Given the description of an element on the screen output the (x, y) to click on. 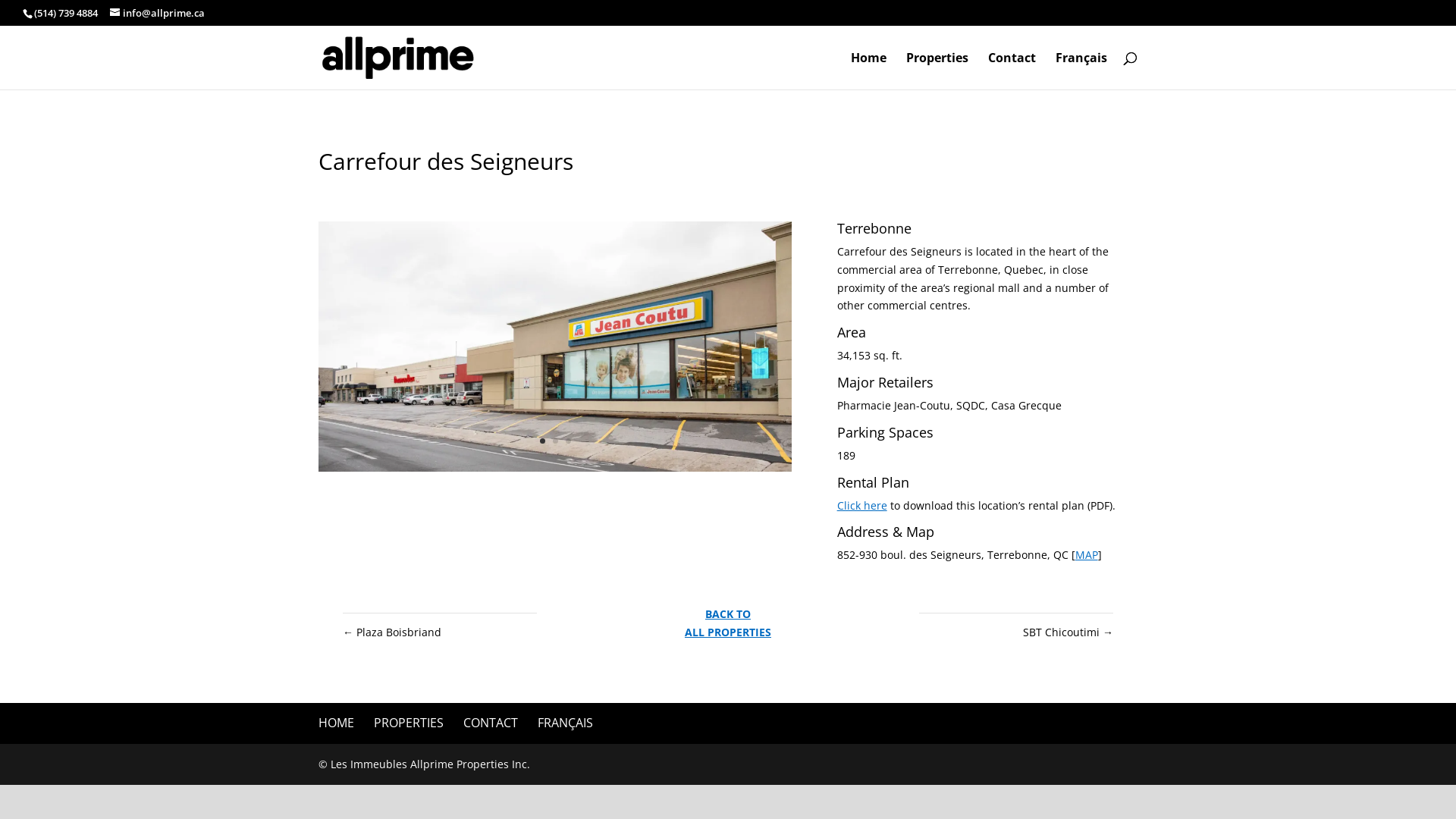
Home Element type: text (868, 69)
1 Element type: text (542, 440)
Carrefour des Seigneurs Element type: hover (554, 471)
HOME Element type: text (336, 722)
CONTACT Element type: text (490, 722)
Properties Element type: text (937, 69)
PROPERTIES Element type: text (408, 722)
MAP Element type: text (1086, 554)
info@allprime.ca Element type: text (156, 12)
2 Element type: text (555, 440)
BACK TO
ALL PROPERTIES Element type: text (727, 622)
Contact Element type: text (1011, 69)
3 Element type: text (568, 440)
Click here Element type: text (862, 505)
